Given the description of an element on the screen output the (x, y) to click on. 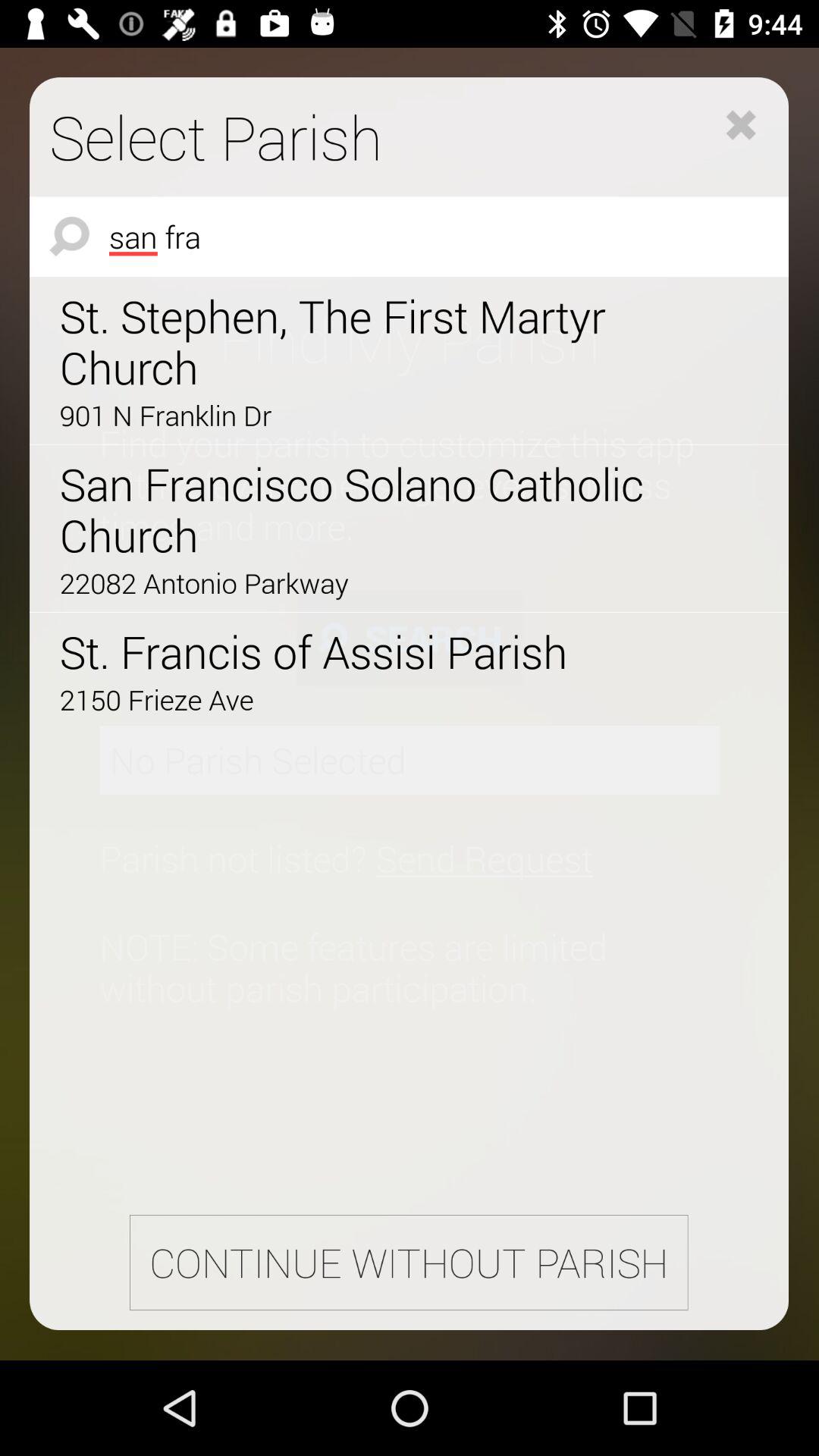
swipe until the 2150 frieze ave (366, 699)
